Given the description of an element on the screen output the (x, y) to click on. 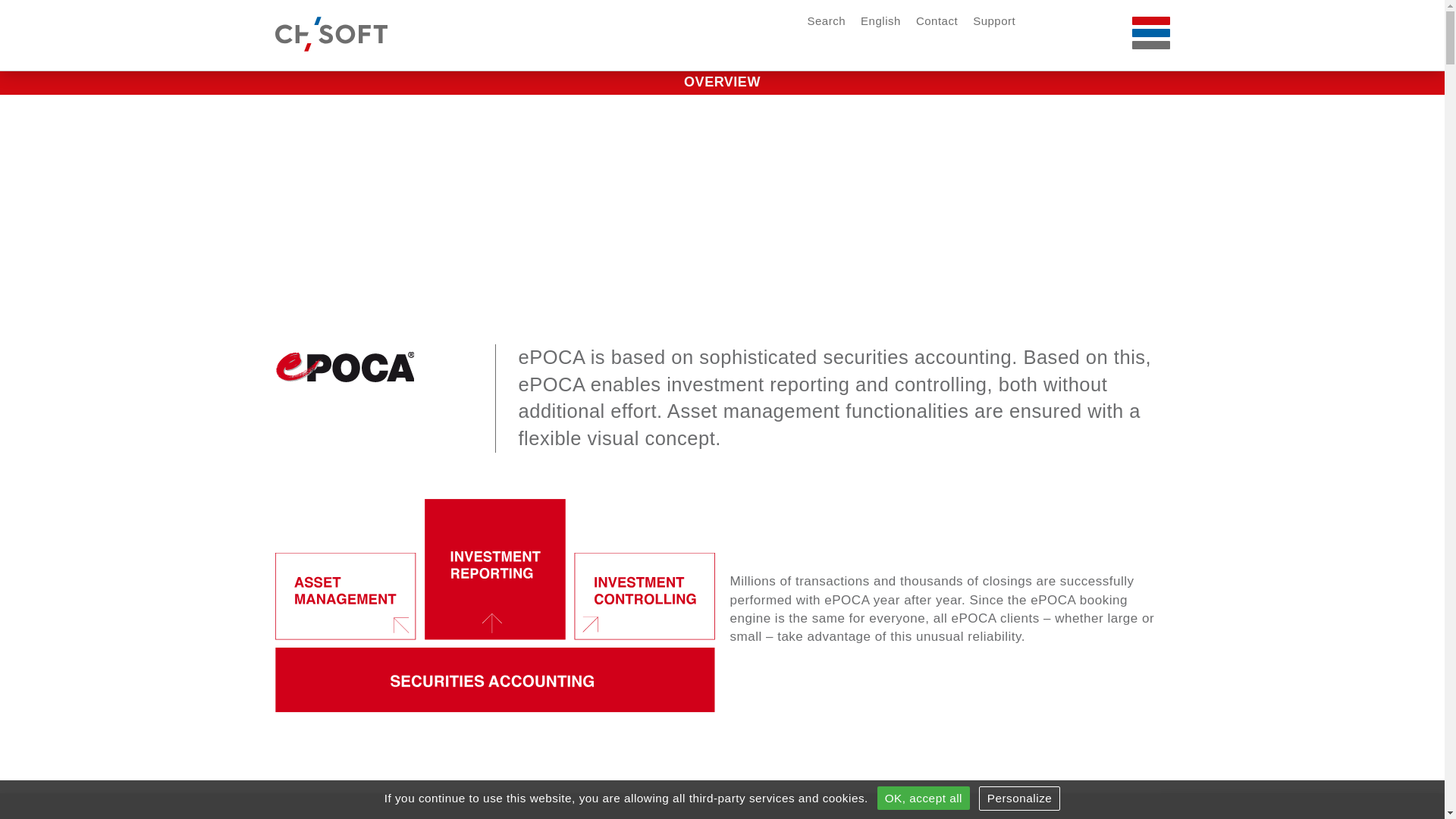
Search Element type: text (826, 20)
Contact Element type: text (936, 20)
Personalize Element type: text (1019, 798)
Support Element type: text (993, 20)
OK, accept all Element type: text (923, 797)
English Element type: text (880, 20)
